Given the description of an element on the screen output the (x, y) to click on. 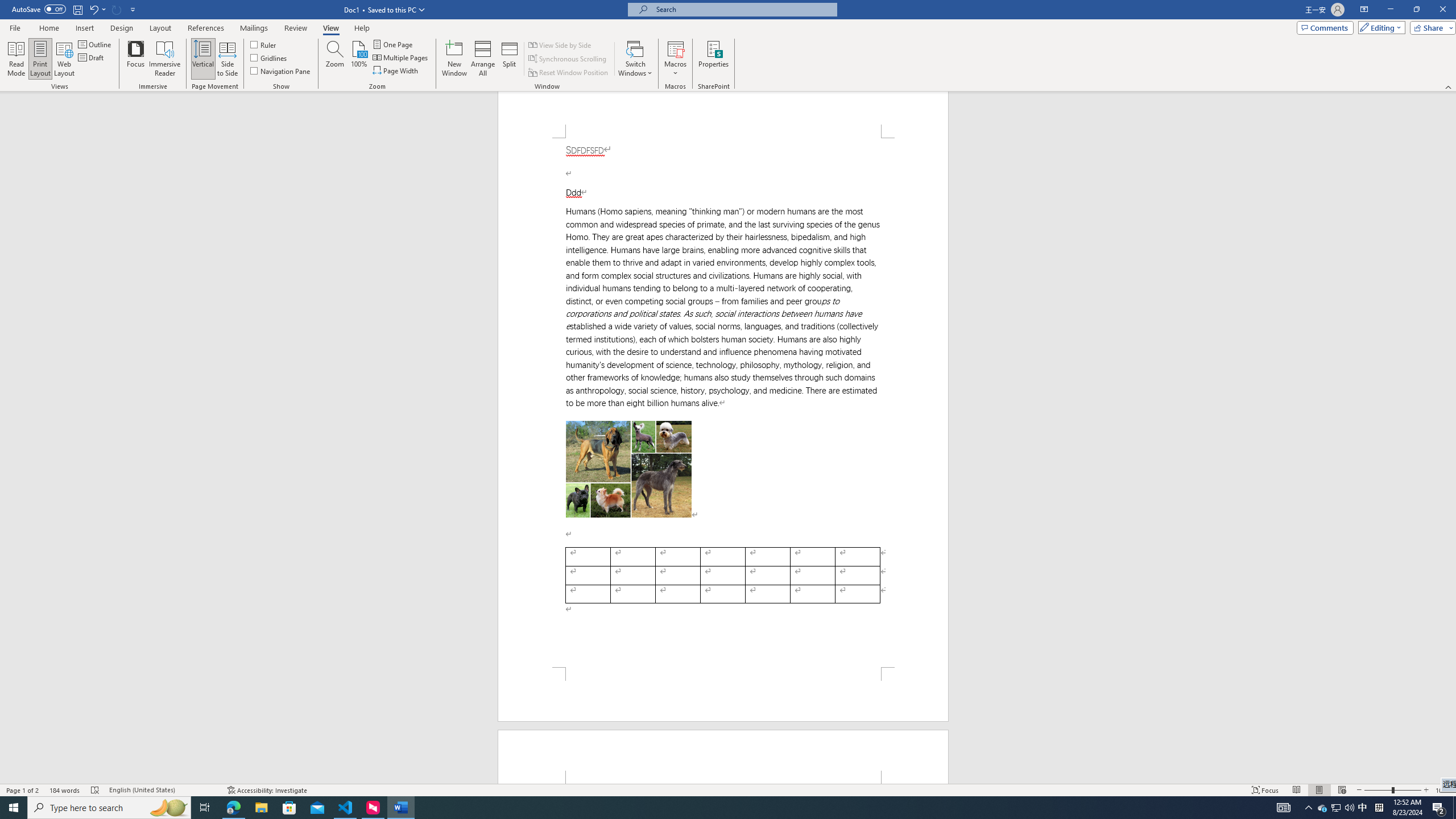
Focus (135, 58)
Zoom... (334, 58)
Navigation Pane (281, 69)
Properties (713, 58)
Multiple Pages (400, 56)
